Given the description of an element on the screen output the (x, y) to click on. 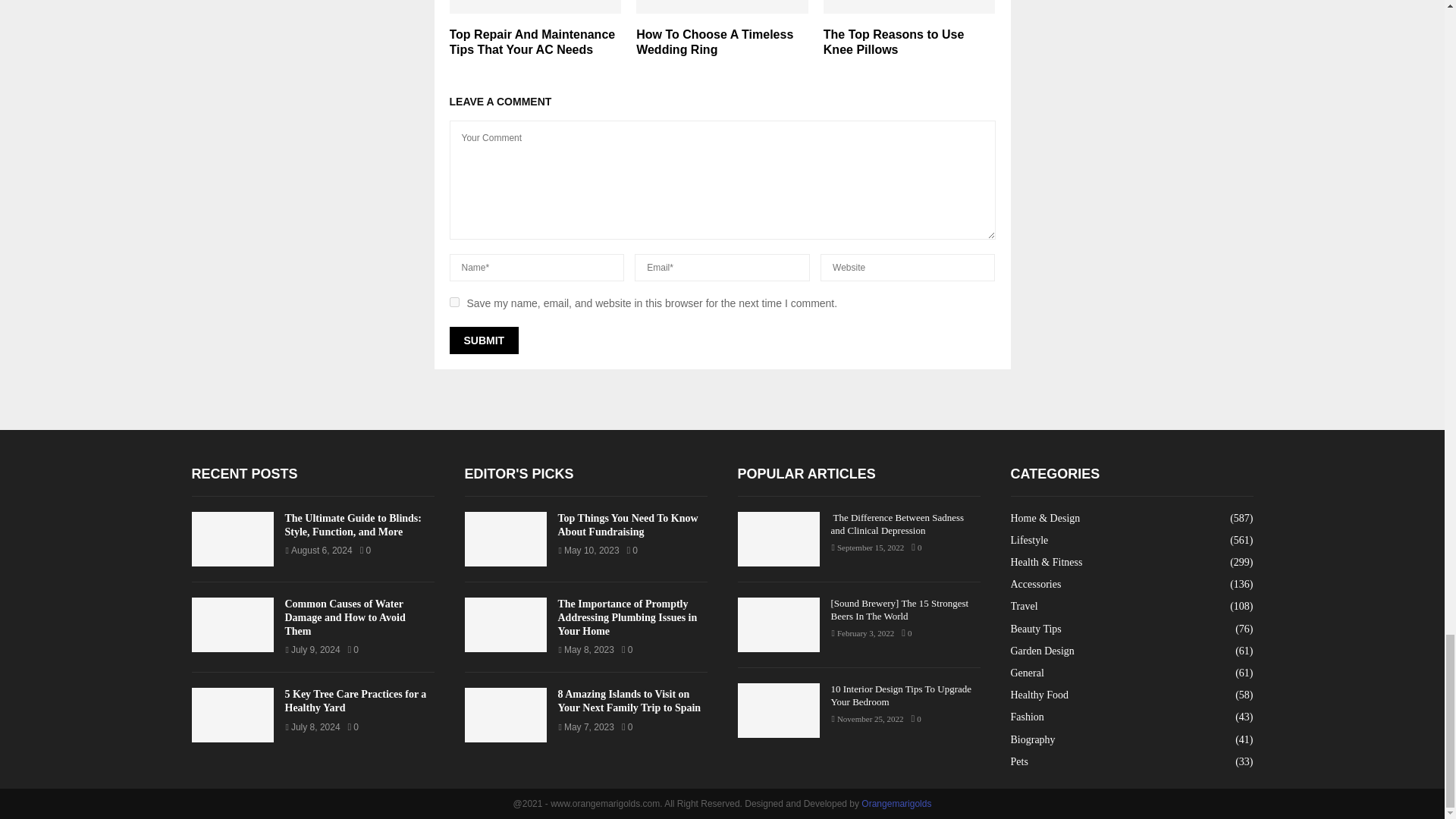
Submit (483, 339)
yes (453, 302)
